Given the description of an element on the screen output the (x, y) to click on. 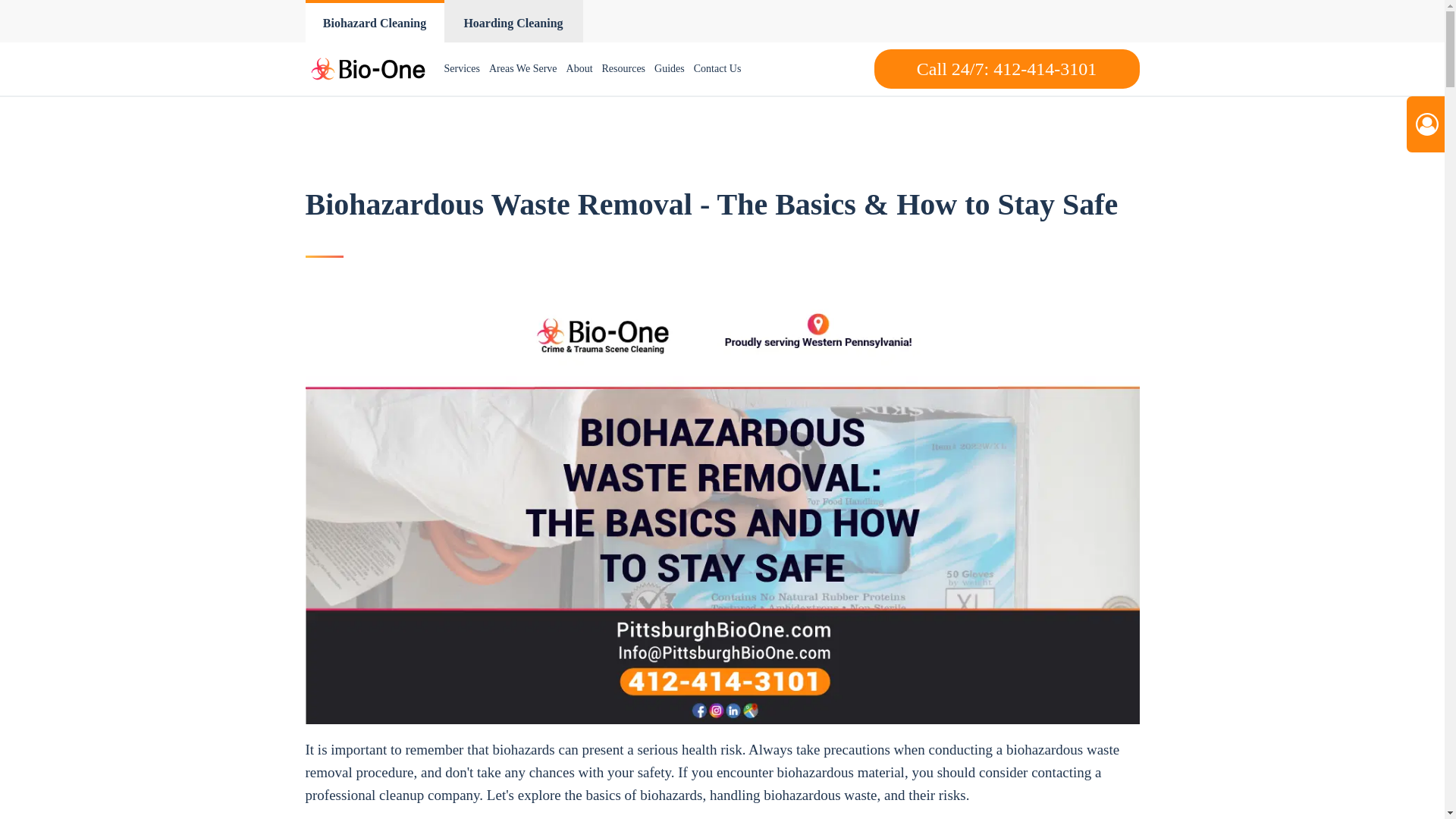
Contact Us (716, 68)
Areas We Serve (523, 68)
Services (461, 68)
Hoarding Cleaning (513, 21)
Resources (623, 68)
Biohazard Cleaning (374, 21)
